Given the description of an element on the screen output the (x, y) to click on. 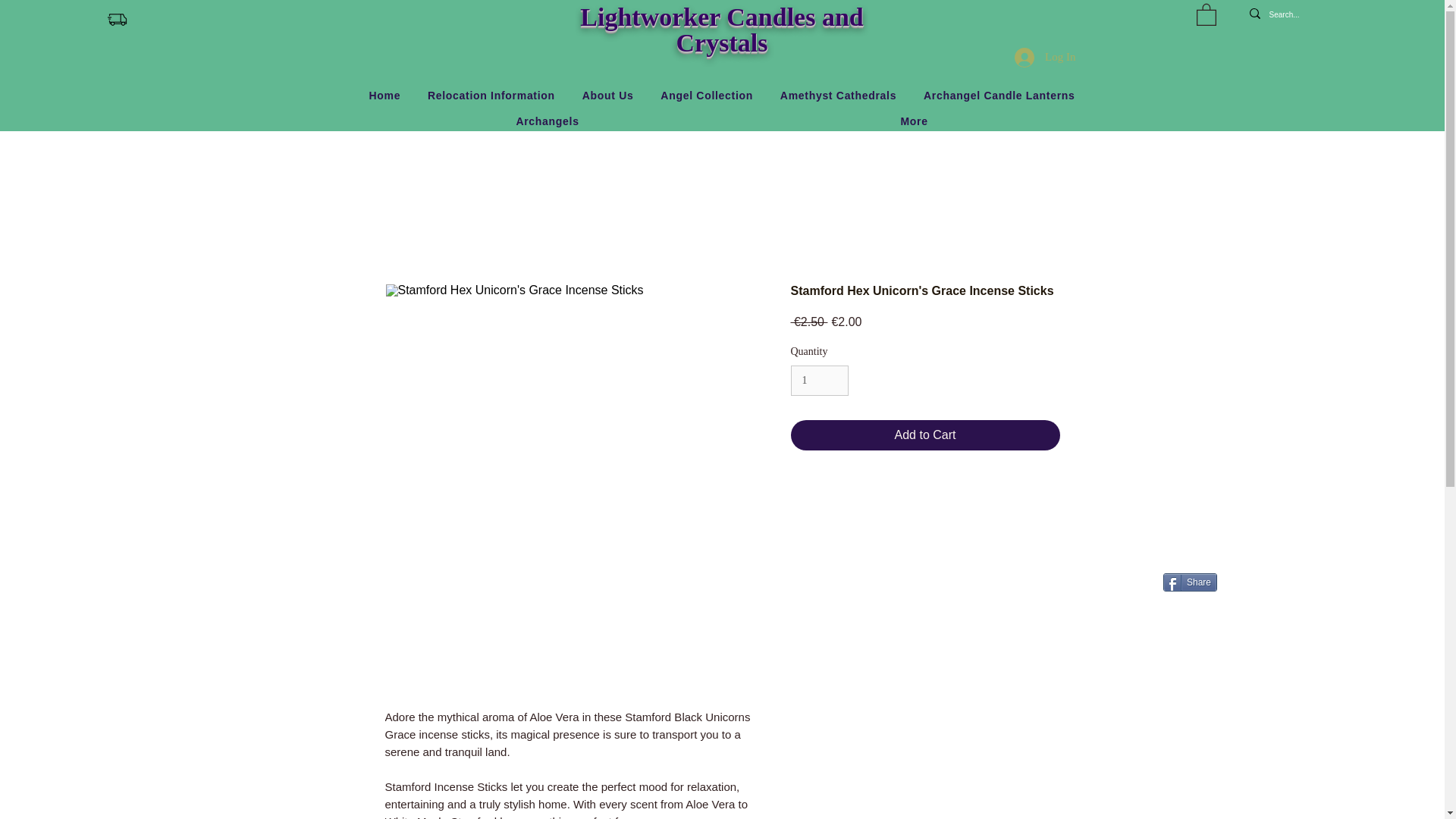
Angel Collection (705, 95)
Share (1190, 582)
Archangel Candle Lanterns (998, 95)
1 (818, 380)
Archangels (547, 121)
Lightworker Candles and Crystals (721, 29)
Relocation Information (491, 95)
Home (384, 95)
About Us (608, 95)
Amethyst Cathedrals (838, 95)
